Given the description of an element on the screen output the (x, y) to click on. 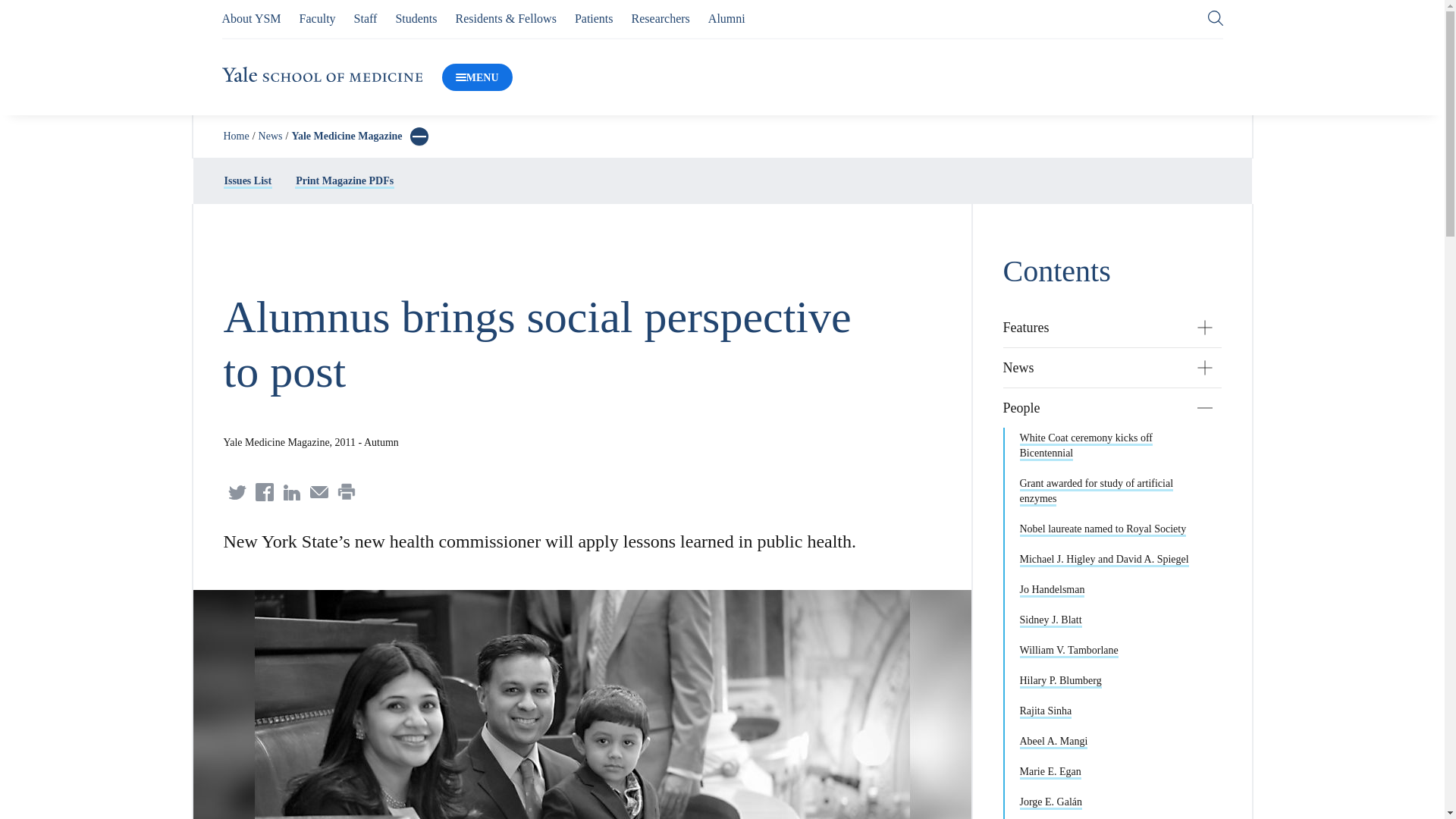
Researchers (660, 18)
Yale School of Medicine (321, 76)
Yale School of Medicine (321, 73)
Alumni (726, 18)
Patients (593, 18)
Students (415, 18)
Staff (365, 18)
About YSM (251, 18)
MENU (477, 76)
Faculty (317, 18)
